Given the description of an element on the screen output the (x, y) to click on. 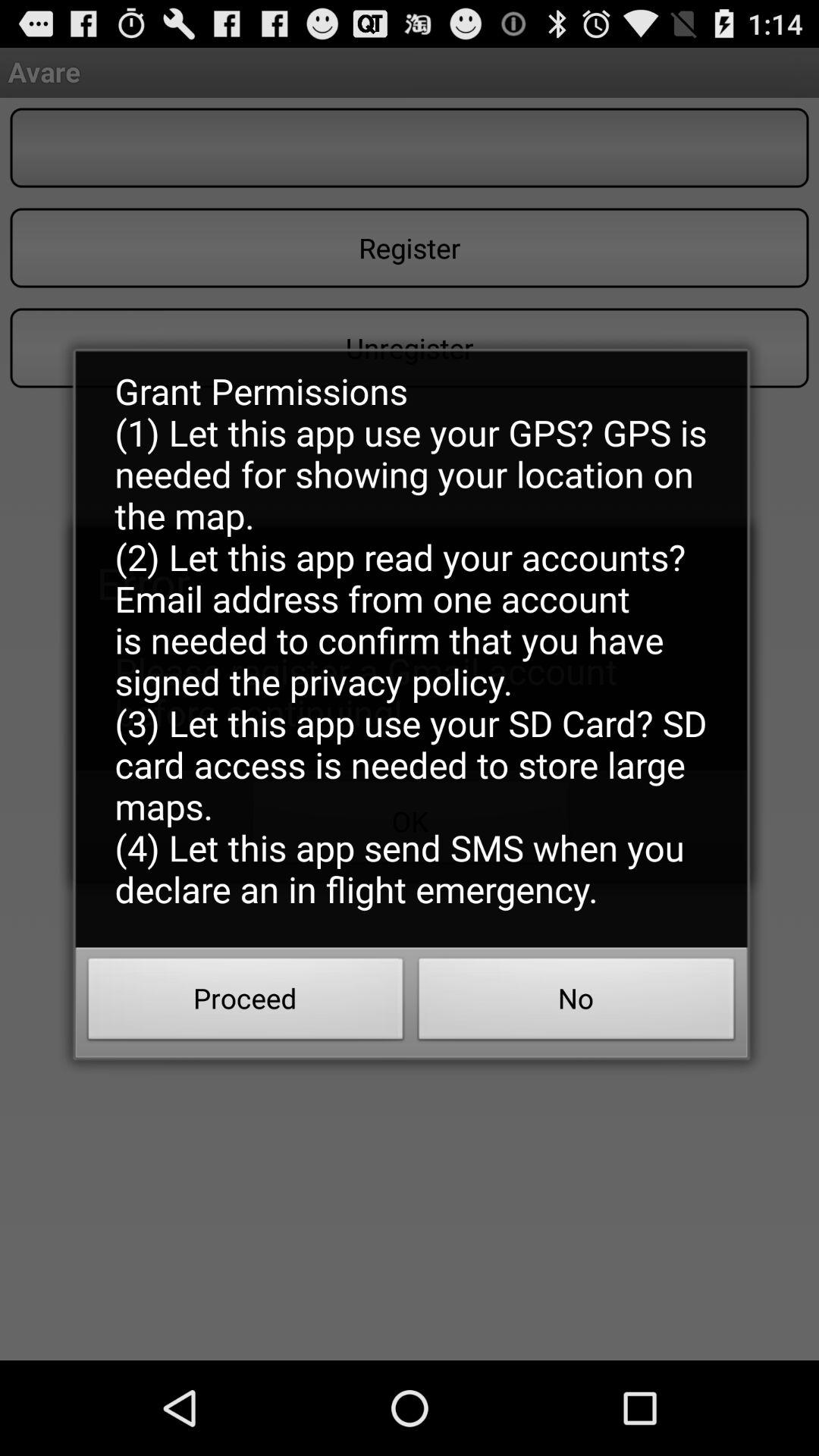
click the no button (576, 1003)
